Given the description of an element on the screen output the (x, y) to click on. 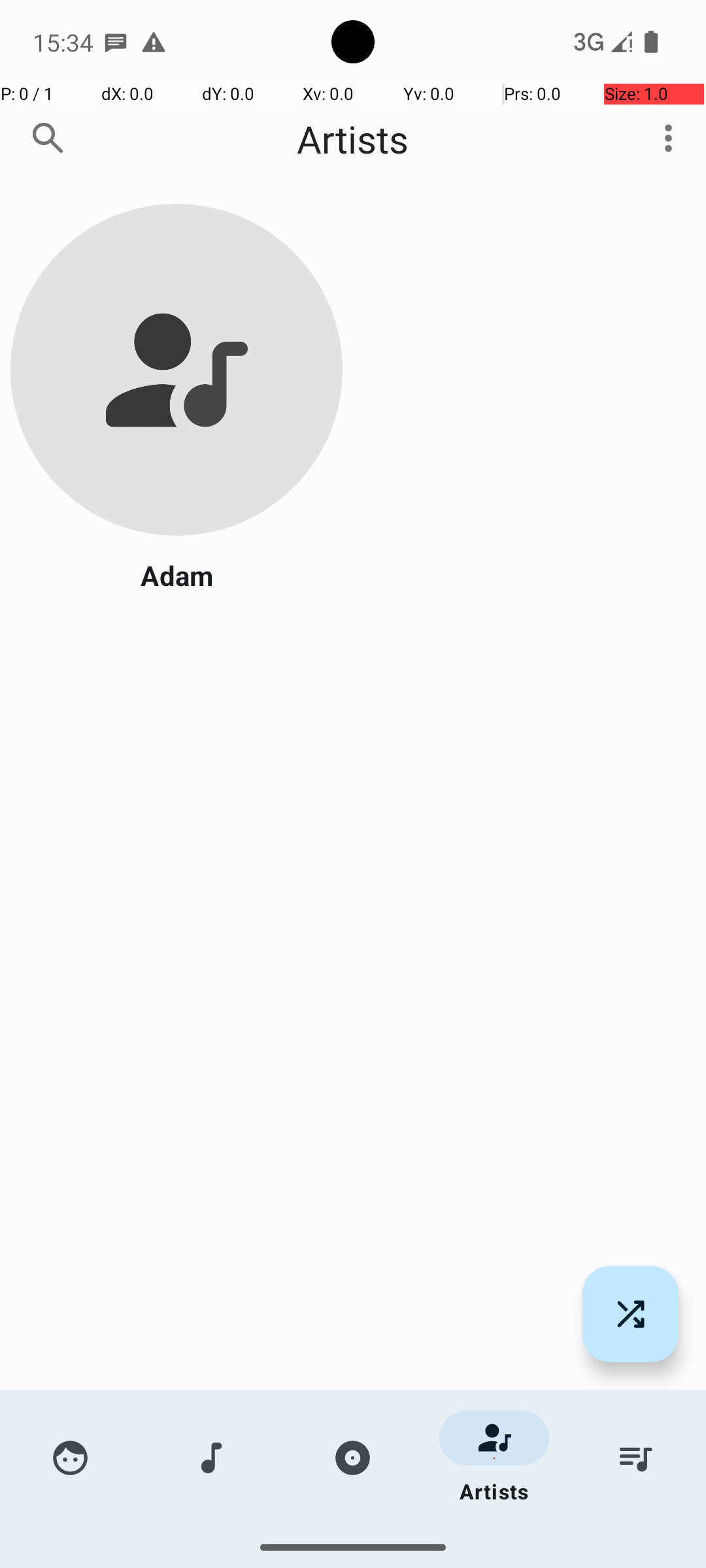
For you Element type: android.widget.FrameLayout (70, 1457)
Adam Element type: android.widget.TextView (176, 574)
